Given the description of an element on the screen output the (x, y) to click on. 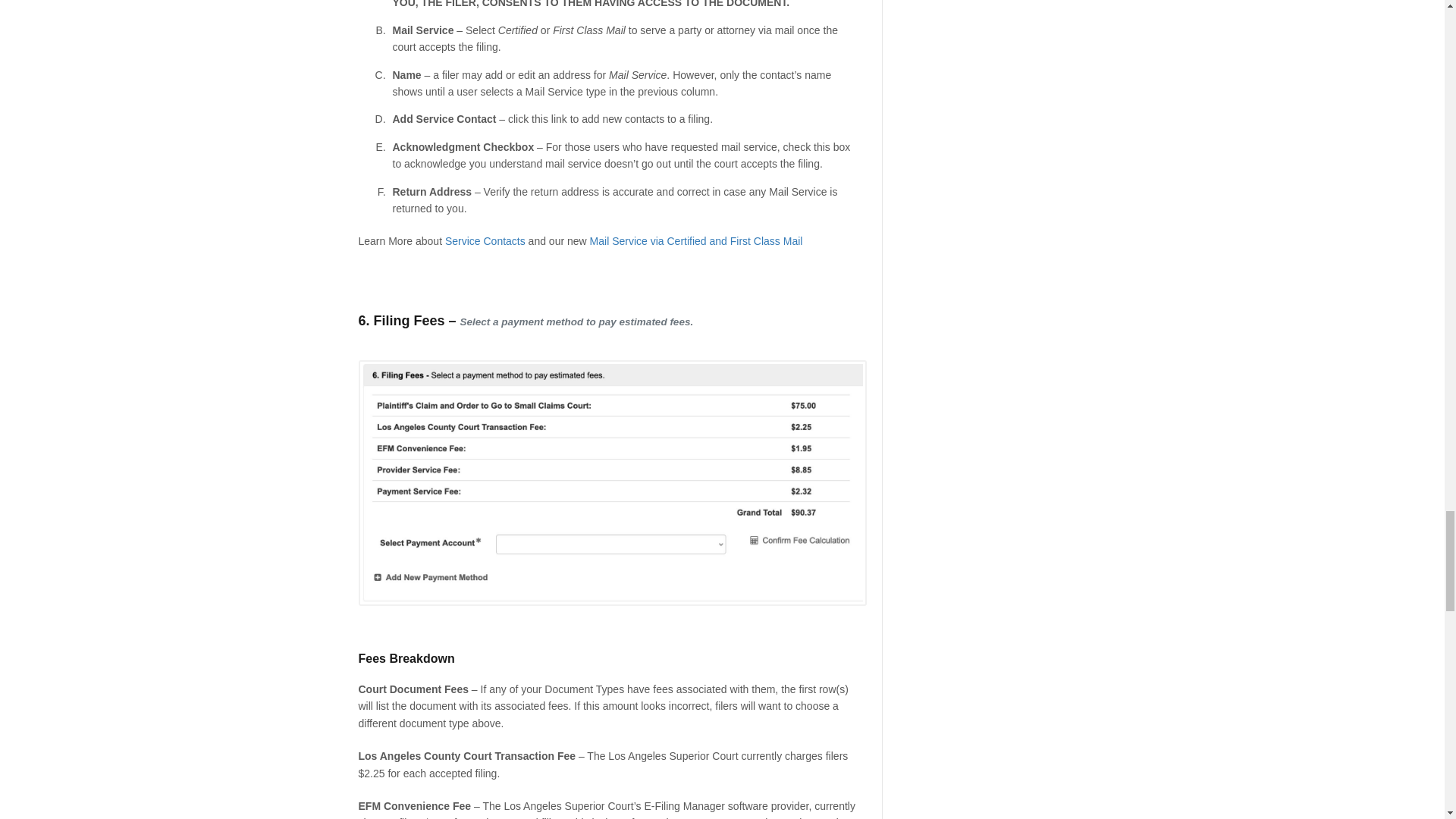
Service Contacts (485, 241)
Mail Service via Certified and First Class Mail (696, 241)
